Given the description of an element on the screen output the (x, y) to click on. 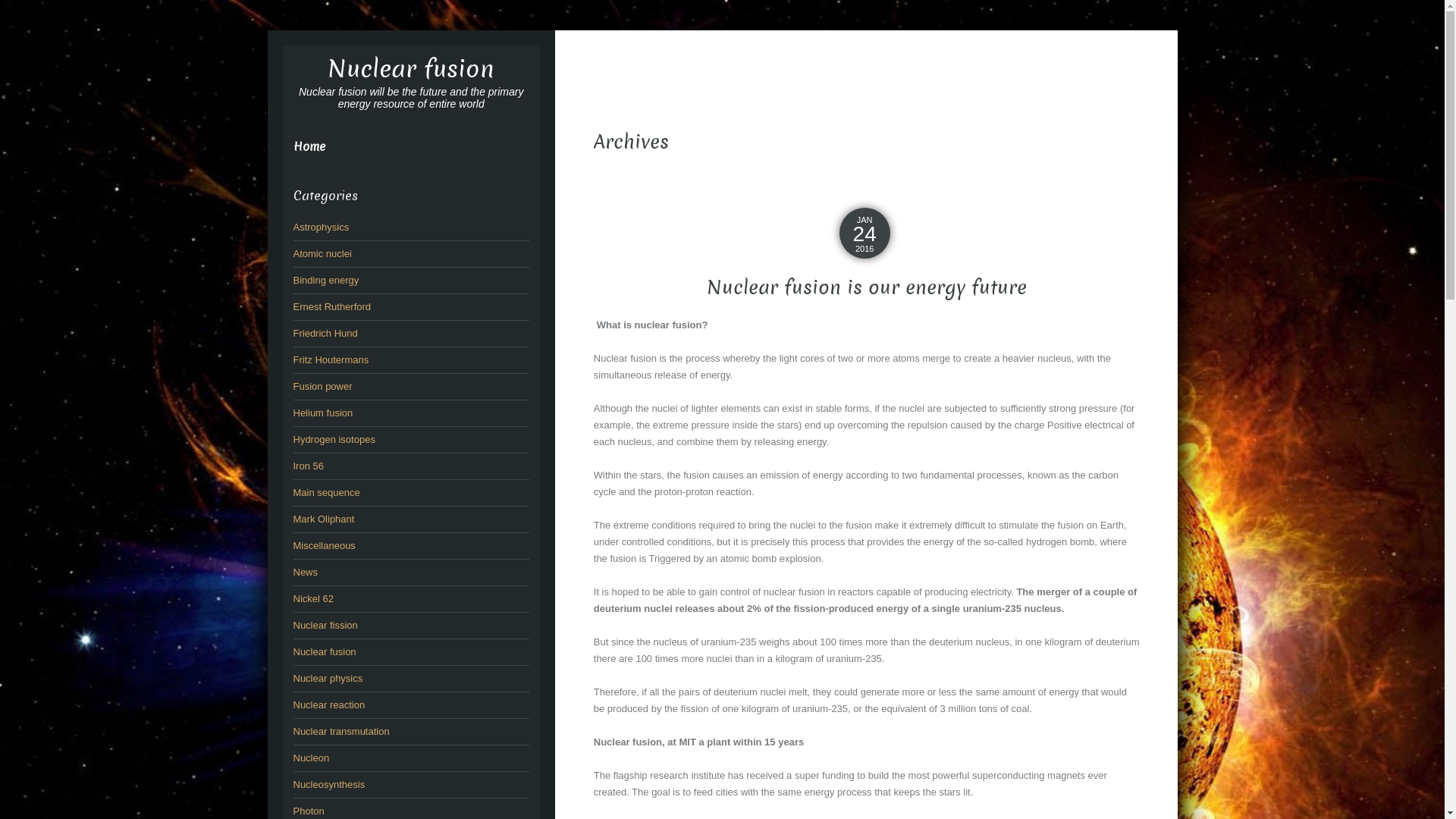
Nuclear physics Element type: text (327, 678)
Photon Element type: text (307, 810)
Miscellaneous Element type: text (323, 545)
Nuclear fusion Element type: text (410, 68)
Hydrogen isotopes Element type: text (333, 439)
Atomic nuclei Element type: text (321, 253)
News Element type: text (304, 571)
Helium fusion Element type: text (322, 412)
Iron 56 Element type: text (307, 465)
Nuclear transmutation Element type: text (340, 731)
Nucleosynthesis Element type: text (328, 784)
Ernest Rutherford Element type: text (331, 306)
Binding energy Element type: text (325, 279)
Fritz Houtermans Element type: text (330, 359)
Friedrich Hund Element type: text (324, 332)
Fusion power Element type: text (321, 386)
Nuclear fission Element type: text (324, 624)
Mark Oliphant Element type: text (323, 518)
Nickel 62 Element type: text (312, 598)
Nuclear fusion is our energy future Element type: text (866, 287)
Astrophysics Element type: text (320, 226)
Nuclear fusion Element type: text (323, 651)
Main sequence Element type: text (325, 492)
Home Element type: text (308, 146)
Nucleon Element type: text (310, 757)
Nuclear reaction Element type: text (328, 704)
